Given the description of an element on the screen output the (x, y) to click on. 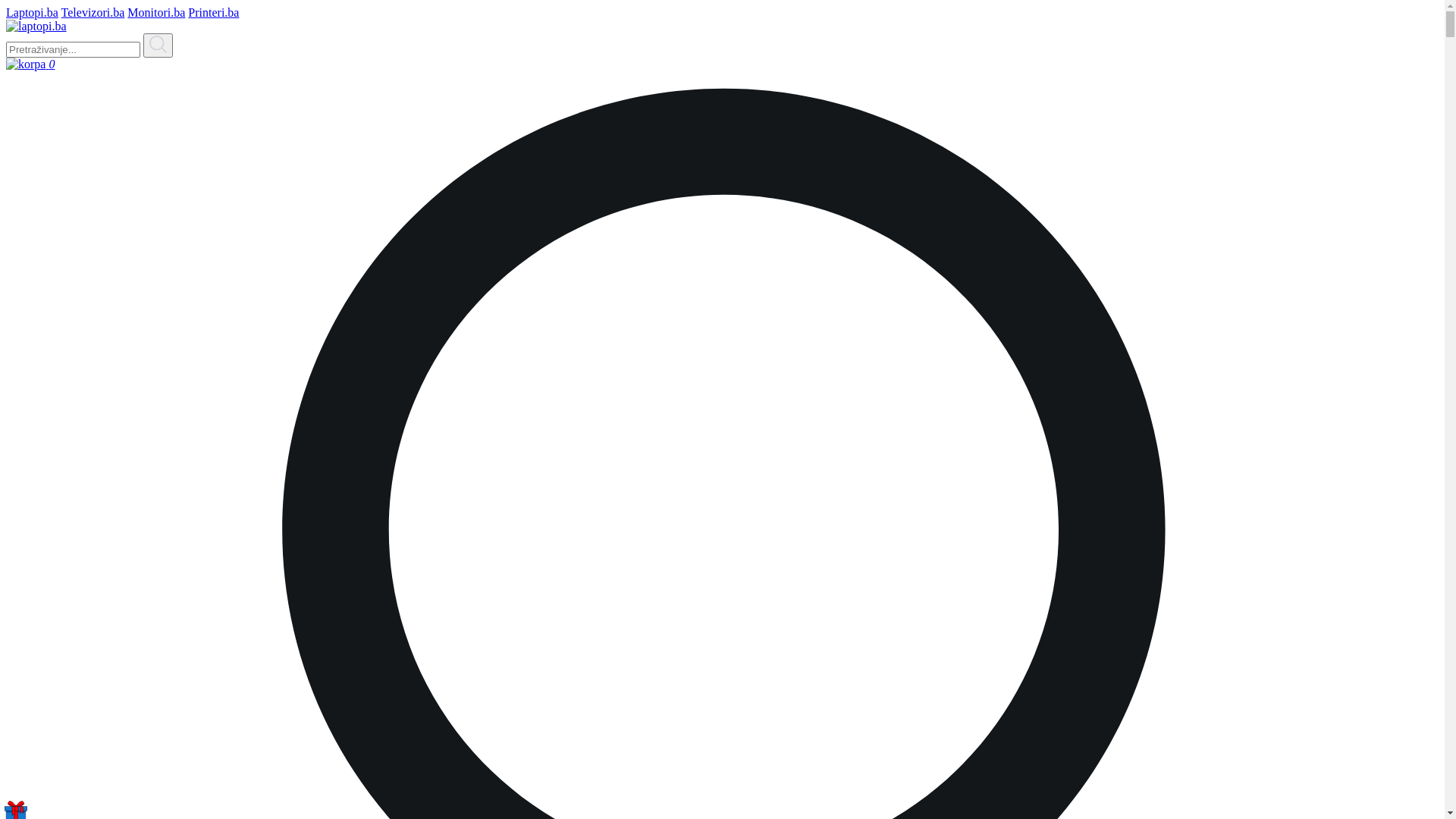
Printeri.ba Element type: text (213, 12)
0 Element type: text (722, 64)
Televizori.ba Element type: text (93, 12)
Laptopi.ba Element type: text (32, 12)
Monitori.ba Element type: text (156, 12)
laptopi.ba Element type: hover (36, 26)
